Given the description of an element on the screen output the (x, y) to click on. 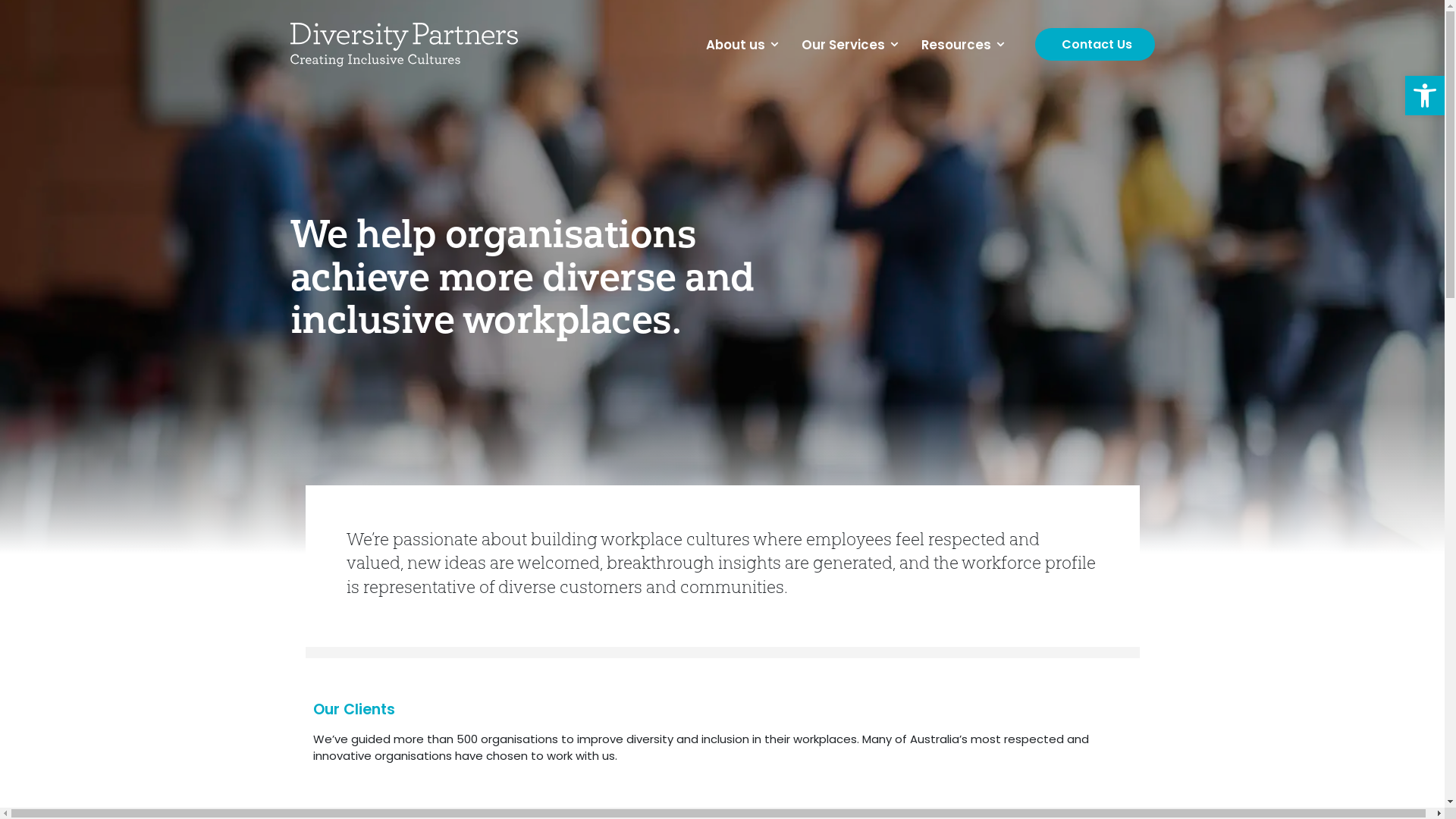
About us
</sue> Element type: text (741, 44)
Open toolbar
Accessibility Tools Element type: text (1424, 95)
Our Services
</sue> Element type: text (848, 44)
Contact Us Element type: text (1094, 44)
Resources
</sue> Element type: text (962, 44)
